Given the description of an element on the screen output the (x, y) to click on. 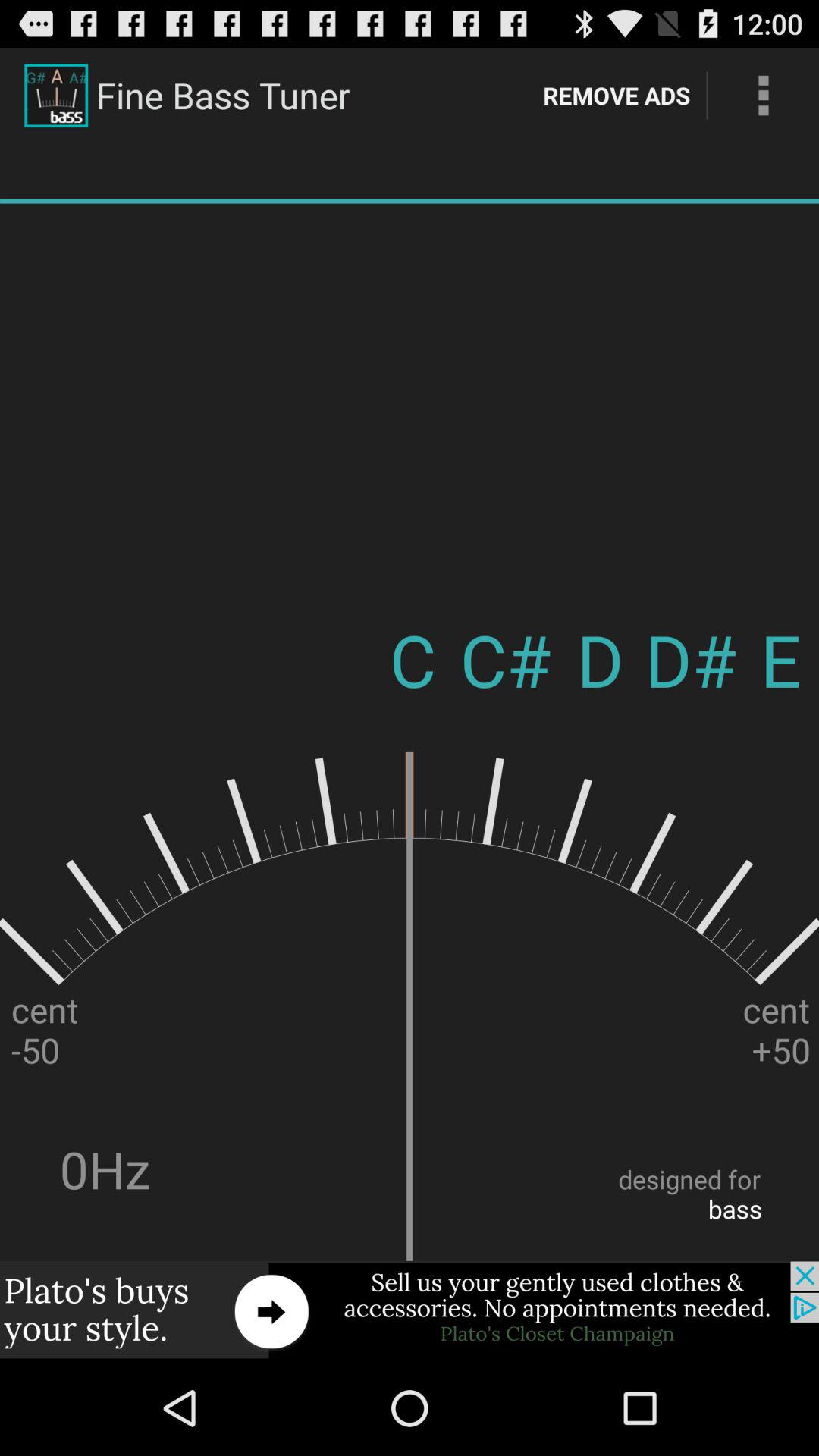
a link to an advertisement (409, 1310)
